Given the description of an element on the screen output the (x, y) to click on. 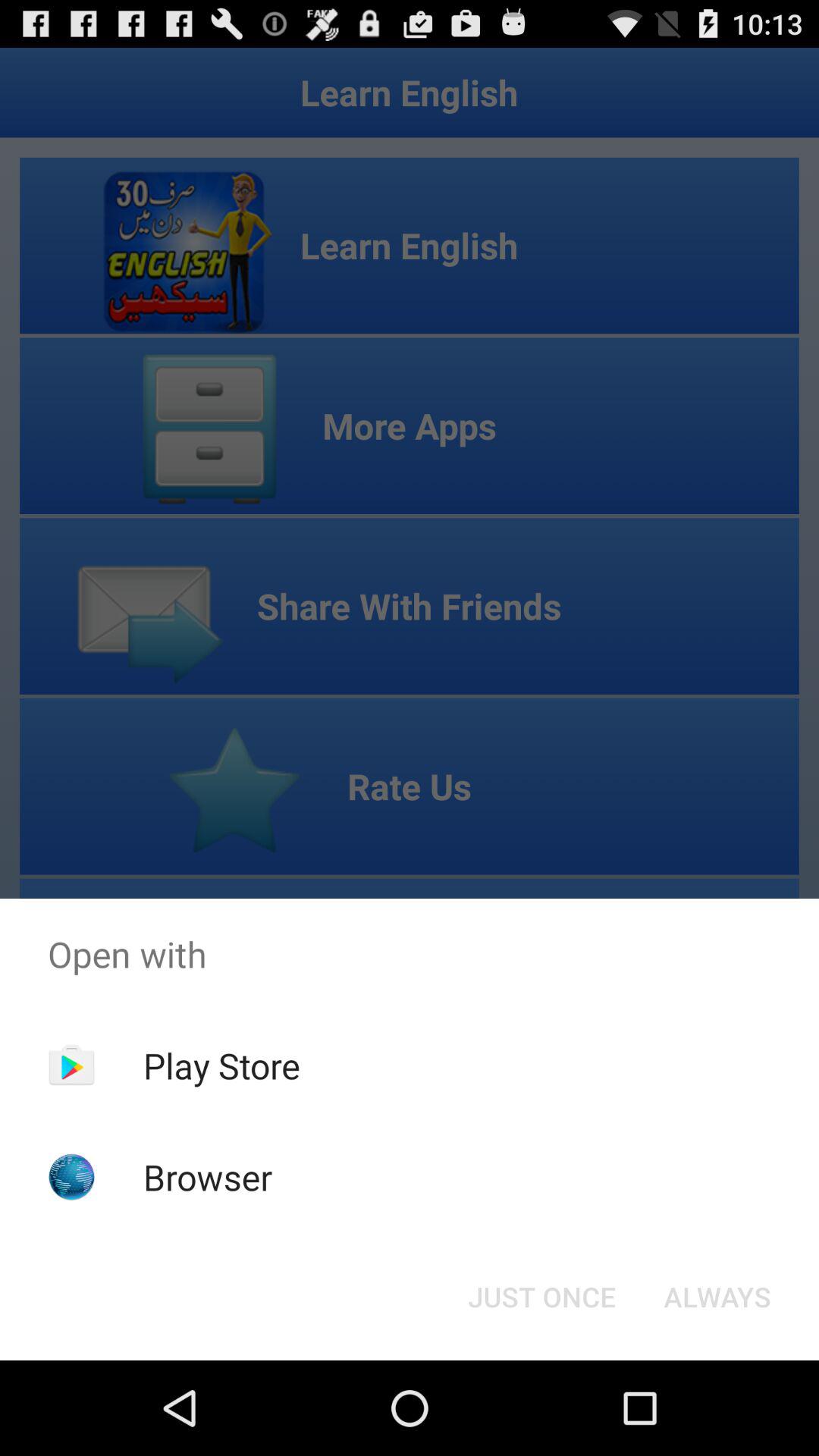
launch item next to just once icon (717, 1296)
